Given the description of an element on the screen output the (x, y) to click on. 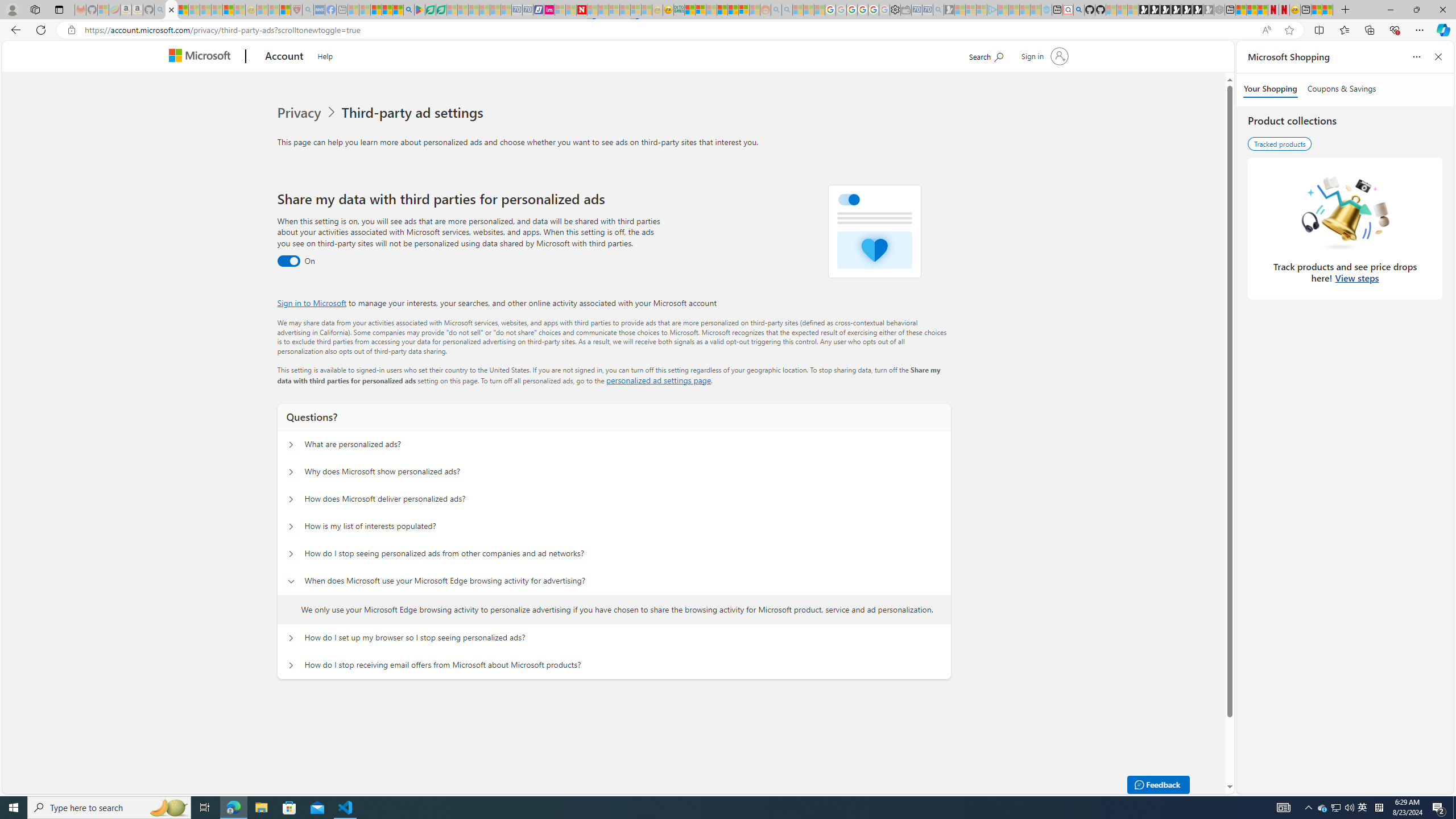
Wildlife - MSN (1316, 9)
